Given the description of an element on the screen output the (x, y) to click on. 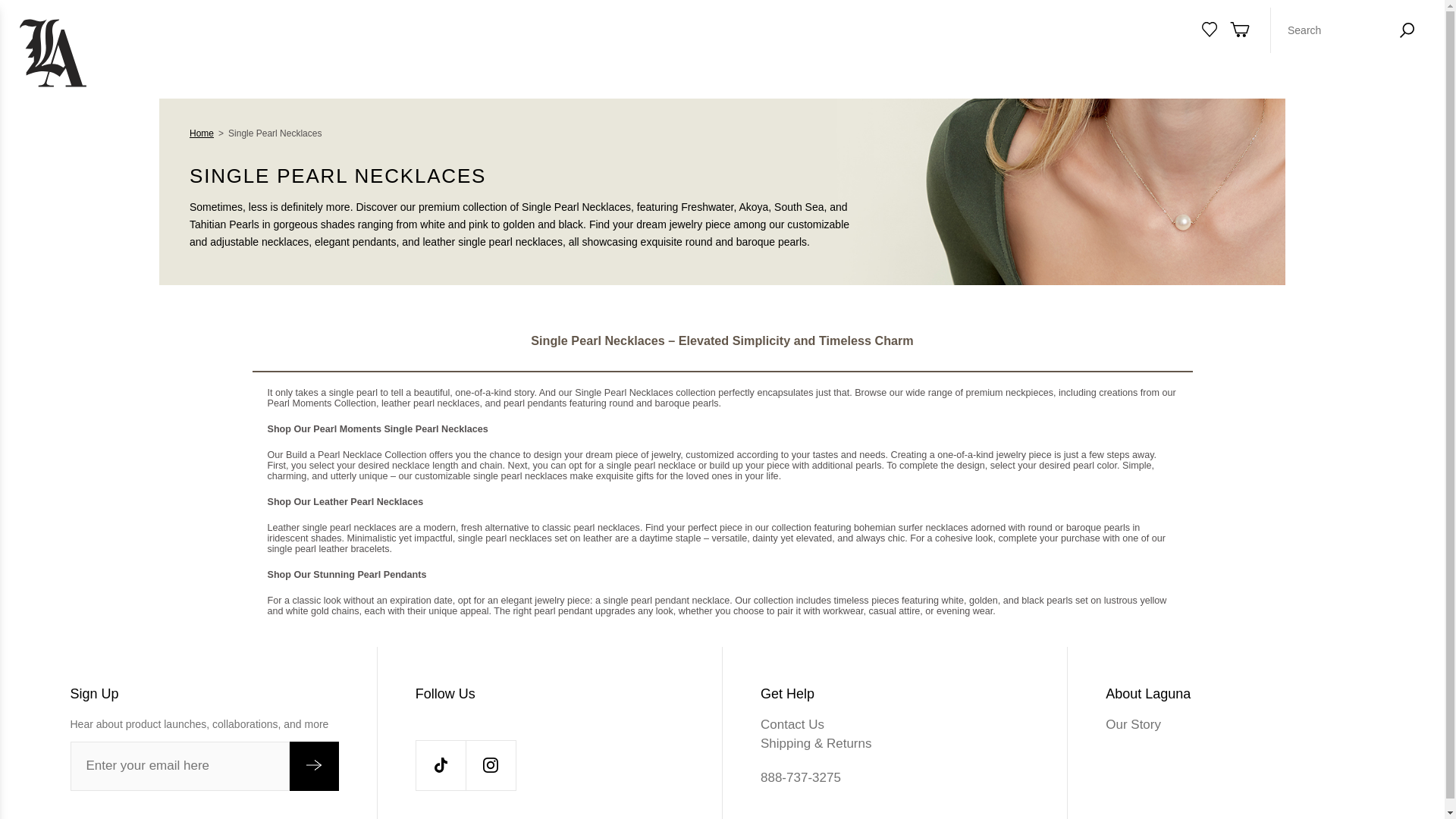
Our Story (1239, 723)
Contact Us (894, 723)
Home (201, 132)
888-737-3275 (894, 777)
